Given the description of an element on the screen output the (x, y) to click on. 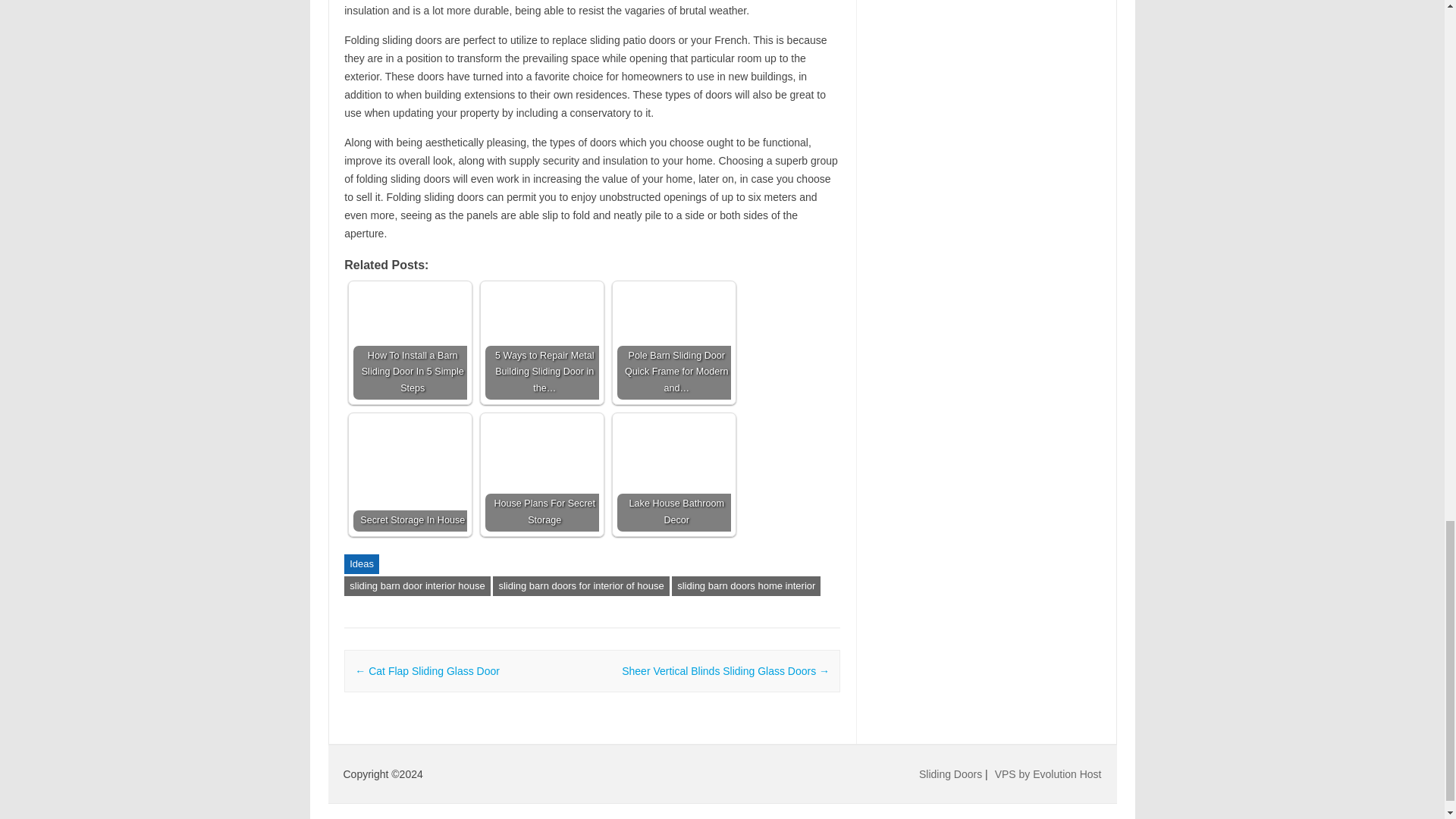
Lake House Bathroom Decor (673, 474)
sliding barn door interior house (416, 586)
How To Install a Barn Sliding Door In 5 Simple Steps (410, 342)
sliding barn doors home interior (746, 586)
Ideas (360, 564)
sliding barn doors for interior of house (580, 586)
Secret Storage In House (410, 474)
How To Install a Barn Sliding Door In 5 Simple Steps (410, 342)
House Plans For Secret Storage (541, 474)
Lake House Bathroom Decor (673, 474)
House Plans For Secret Storage (541, 474)
Secret Storage In House (410, 474)
